Given the description of an element on the screen output the (x, y) to click on. 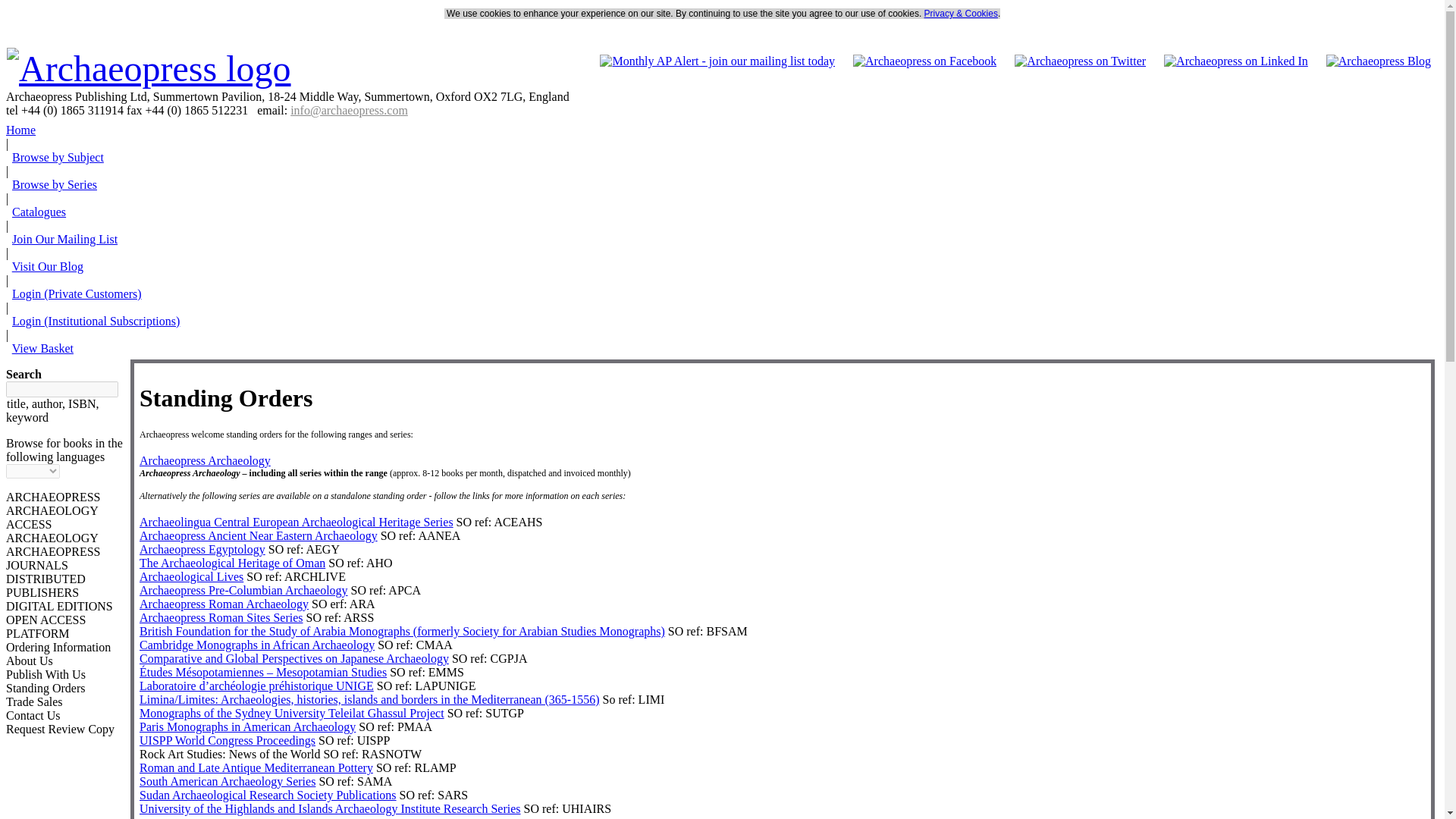
Join Our Mailing List (64, 238)
Monographs of the Sydney University Teleilat Ghassul Project (291, 712)
Archaeopress Ancient Near Eastern Archaeology (258, 535)
Browse by Series (54, 184)
Roman and Late Antique Mediterranean Pottery (255, 767)
Archaeopress Archaeology (204, 460)
Archaeological Lives (191, 576)
Archaeopress Roman Sites Series (220, 617)
Catalogues (38, 211)
Cambridge Monographs in African Archaeology (256, 644)
